Given the description of an element on the screen output the (x, y) to click on. 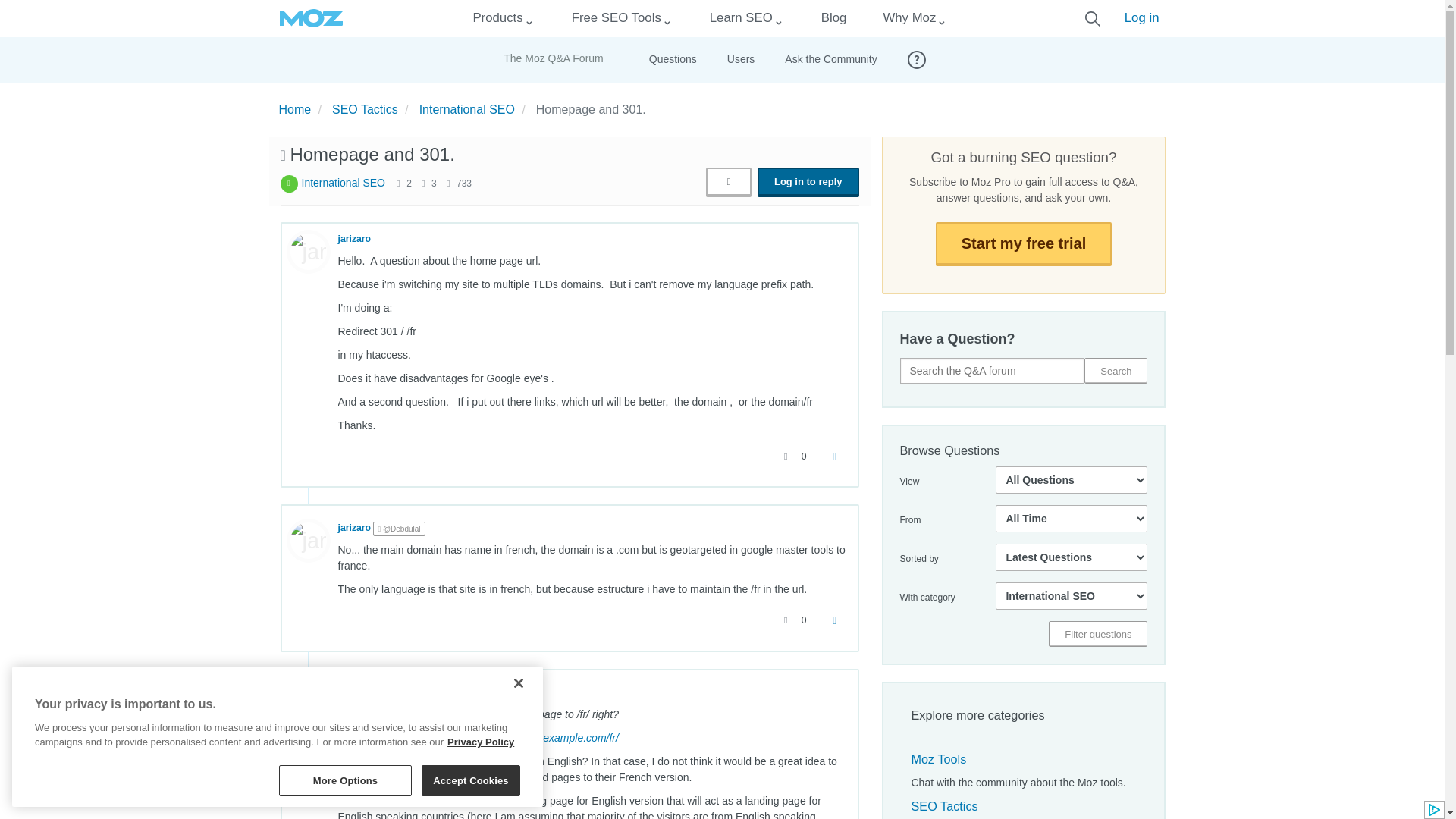
Search (1115, 370)
Moz logo (311, 18)
Moz Home (311, 18)
Moz logo (311, 18)
Products (496, 18)
Filter questions (1097, 633)
